Given the description of an element on the screen output the (x, y) to click on. 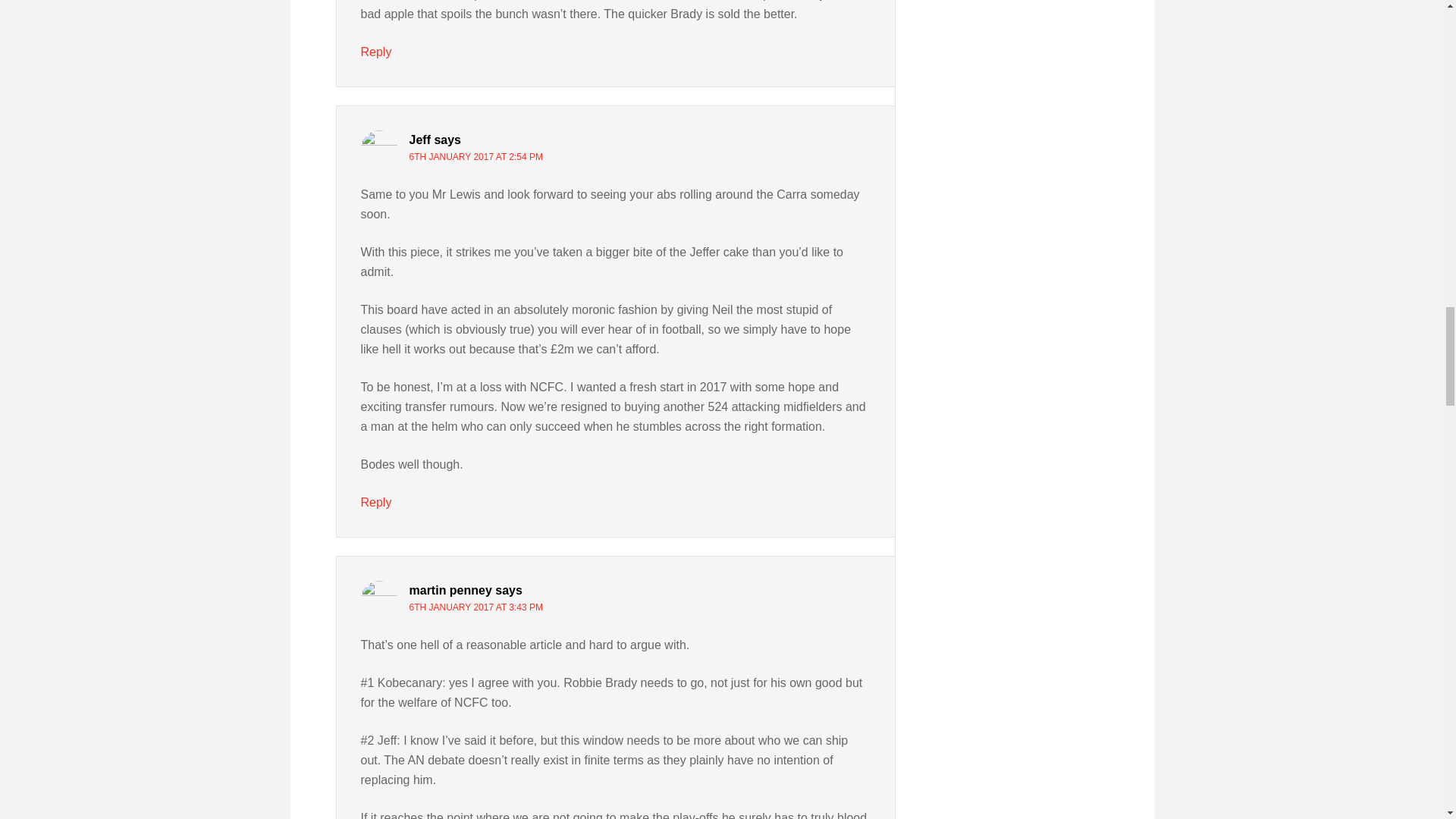
6TH JANUARY 2017 AT 3:43 PM (476, 606)
Reply (376, 51)
6TH JANUARY 2017 AT 2:54 PM (476, 156)
Reply (376, 502)
